Given the description of an element on the screen output the (x, y) to click on. 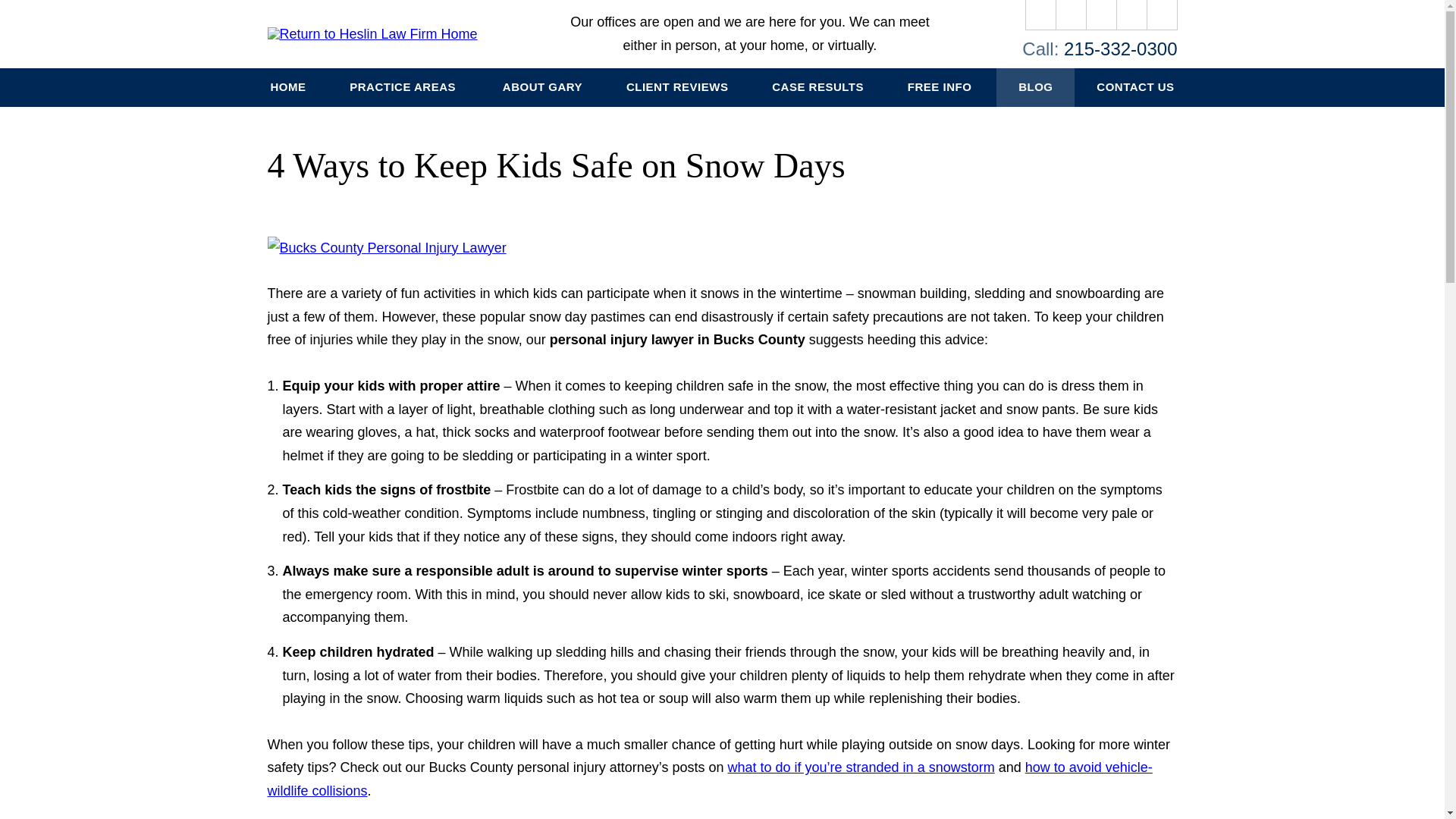
CASE RESULTS (817, 87)
Search (1161, 15)
HOME (288, 87)
ABOUT GARY (542, 87)
FREE INFO (940, 87)
CLIENT REVIEWS (676, 87)
PRACTICE AREAS (403, 87)
BLOG (1034, 87)
